Given the description of an element on the screen output the (x, y) to click on. 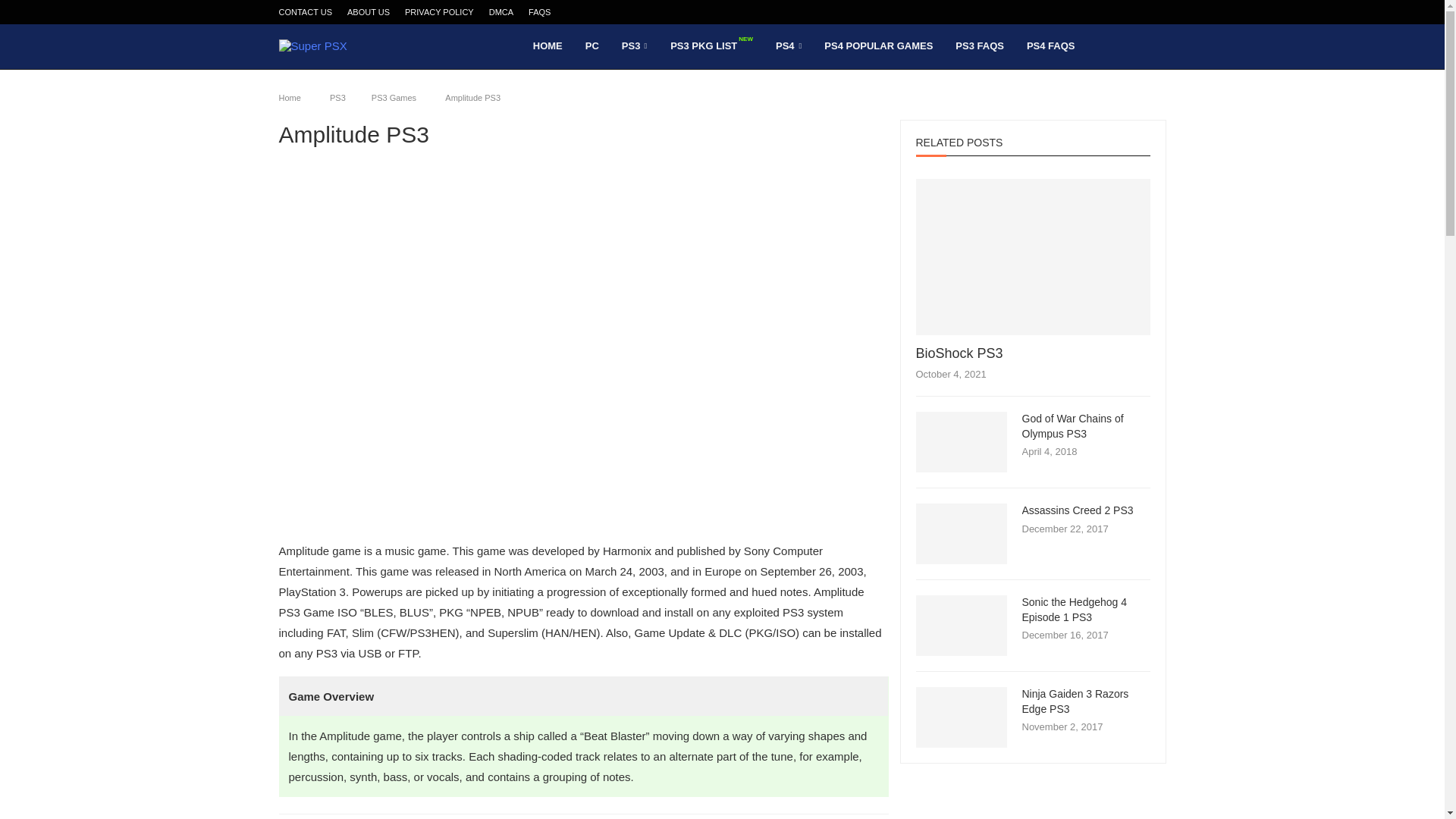
Ninja Gaiden 3 Razors Edge PS3 (1086, 701)
Sonic the Hedgehog 4 Episode 1 PS3 (1086, 609)
PS3 PKG LIST (711, 46)
PS3 Games (393, 97)
Assassins Creed 2 PS3 (961, 533)
PS3 (338, 97)
PS4 FAQS (1050, 46)
PS3 FAQS (978, 46)
PRIVACY POLICY (439, 12)
Assassins Creed 2 PS3 (1086, 510)
